Given the description of an element on the screen output the (x, y) to click on. 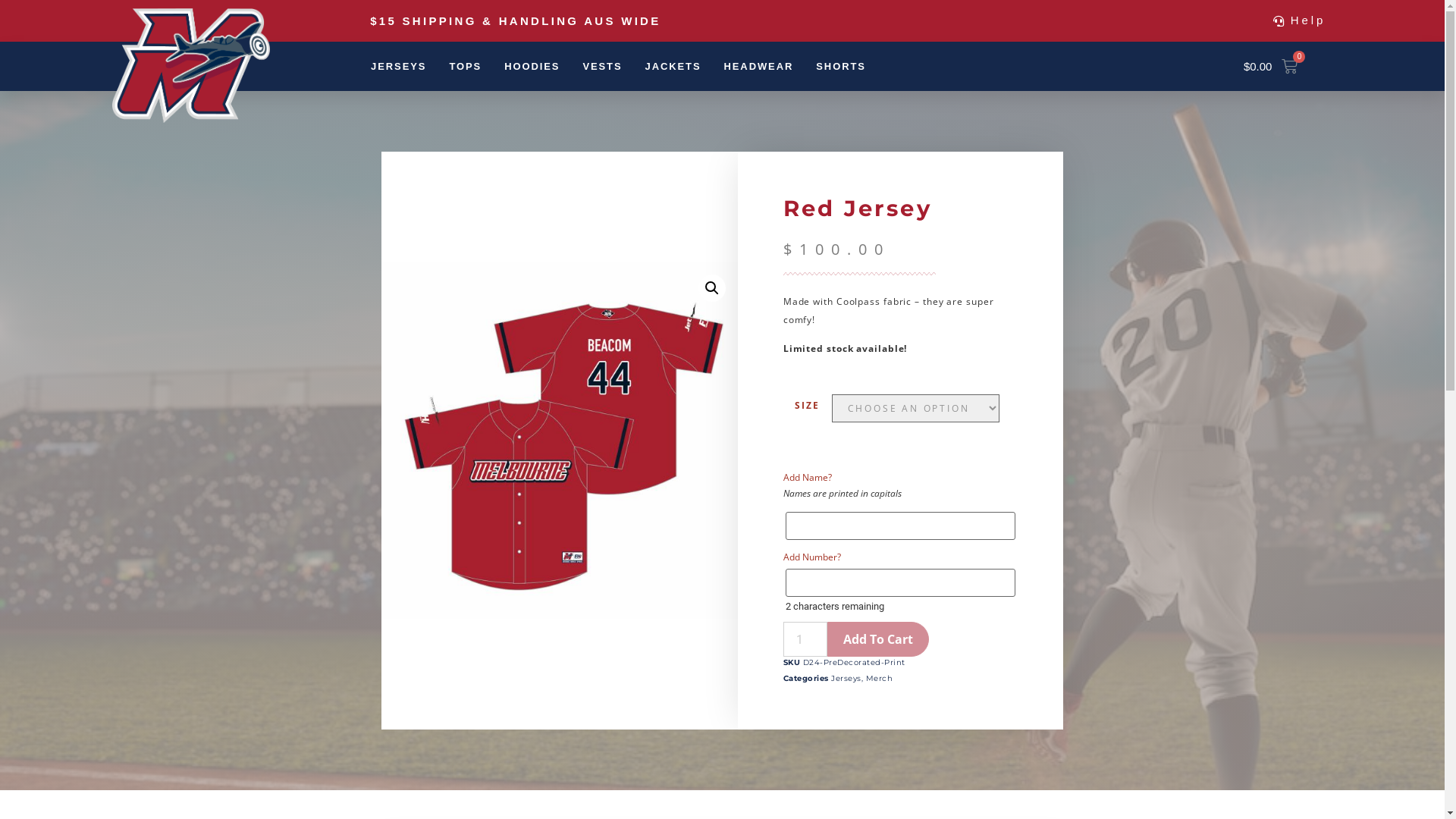
Red_Name_44 Element type: hover (558, 440)
VESTS Element type: text (601, 66)
JACKETS Element type: text (673, 66)
Merch Element type: text (879, 678)
HOODIES Element type: text (531, 66)
HEADWEAR Element type: text (758, 66)
JERSEYS Element type: text (398, 66)
TOPS Element type: text (464, 66)
Jerseys Element type: text (846, 678)
$0.00 Element type: text (1270, 66)
SHORTS Element type: text (840, 66)
Help Element type: text (1299, 20)
Add To Cart Element type: text (877, 638)
